Given the description of an element on the screen output the (x, y) to click on. 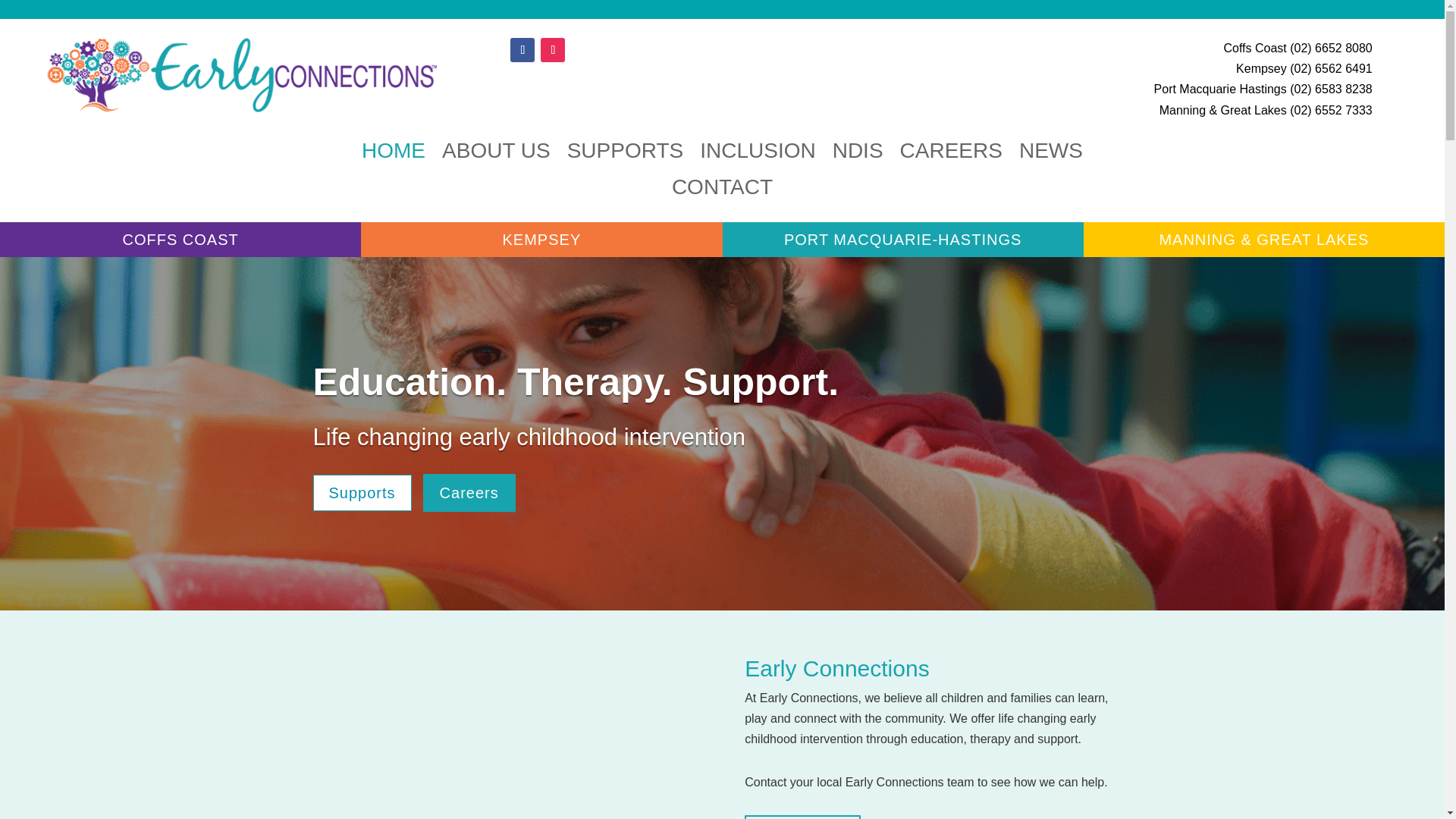
INCLUSION (757, 161)
SUPPORTS (625, 161)
Supports (361, 493)
ABOUT US (496, 161)
KEMPSEY (541, 239)
PORT MACQUARIE-HASTINGS (902, 239)
HOME (393, 161)
logo-early-connections (240, 74)
NDIS (857, 161)
CAREERS (951, 161)
